Given the description of an element on the screen output the (x, y) to click on. 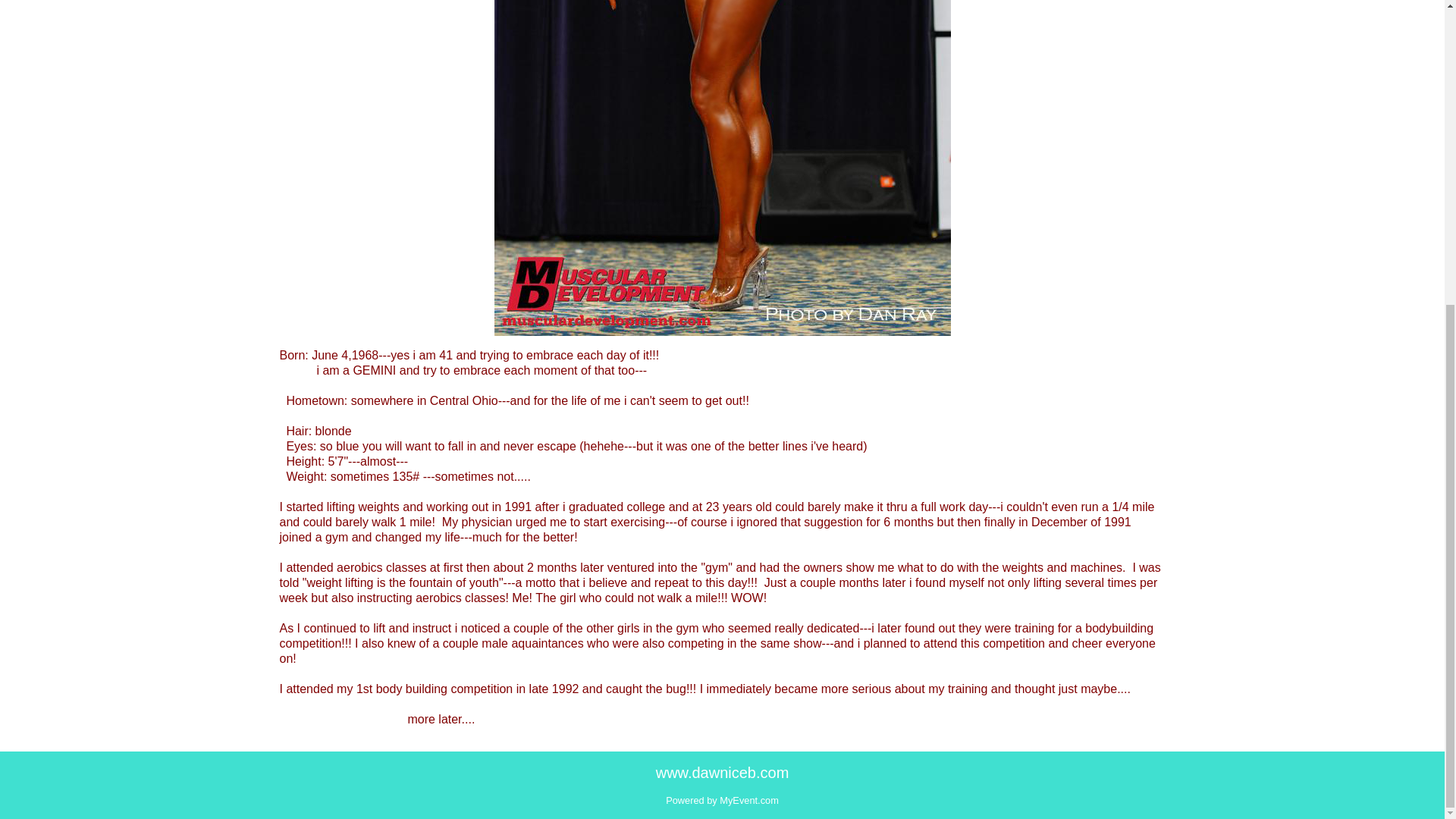
www.dawniceb.com (722, 772)
MyEvent.com (748, 799)
MyEvent.com (748, 799)
www.dawniceb.com (722, 772)
